Given the description of an element on the screen output the (x, y) to click on. 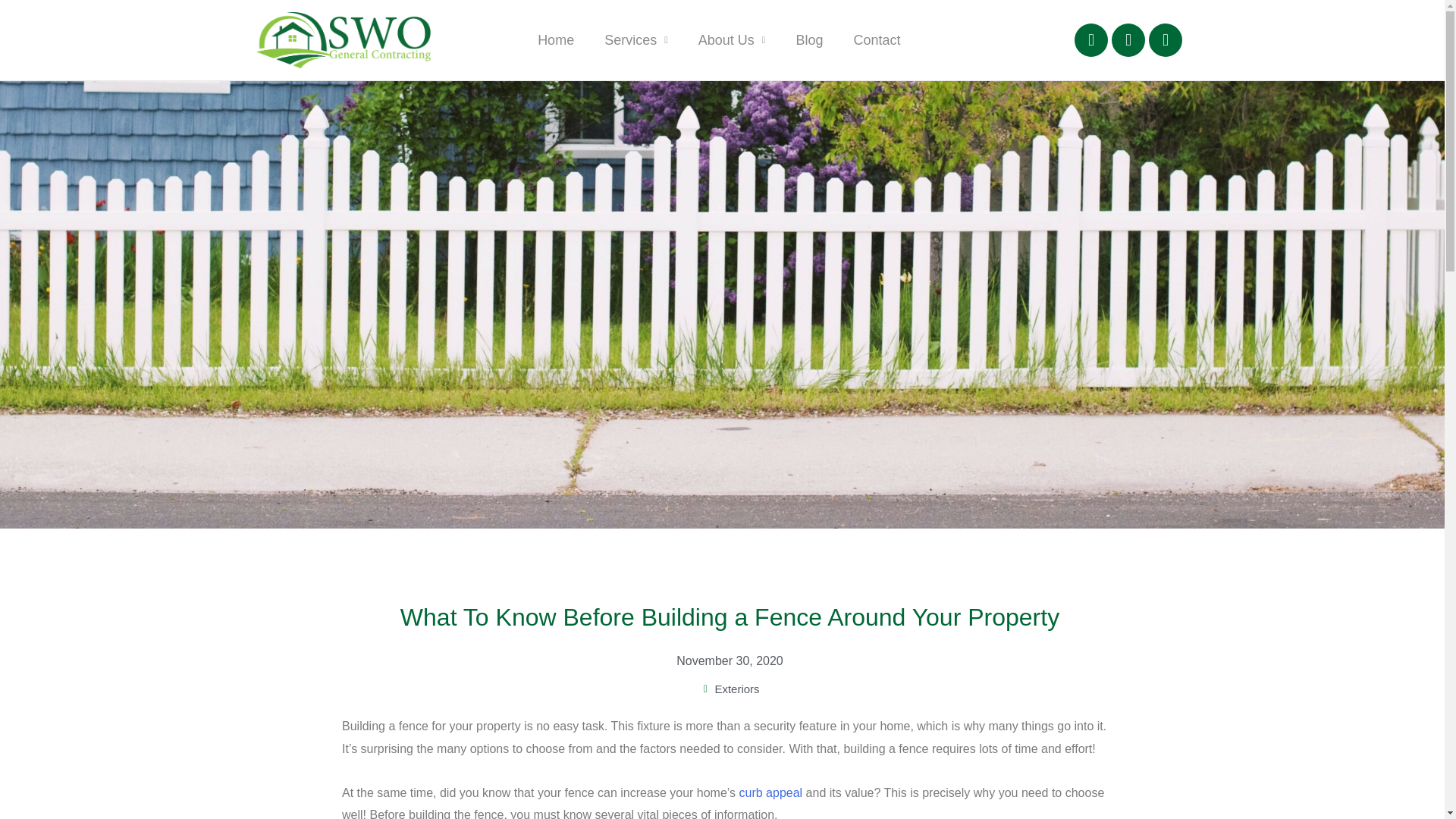
Home (555, 39)
About Us (731, 39)
Contact (876, 39)
Services (635, 39)
Blog (809, 39)
